Given the description of an element on the screen output the (x, y) to click on. 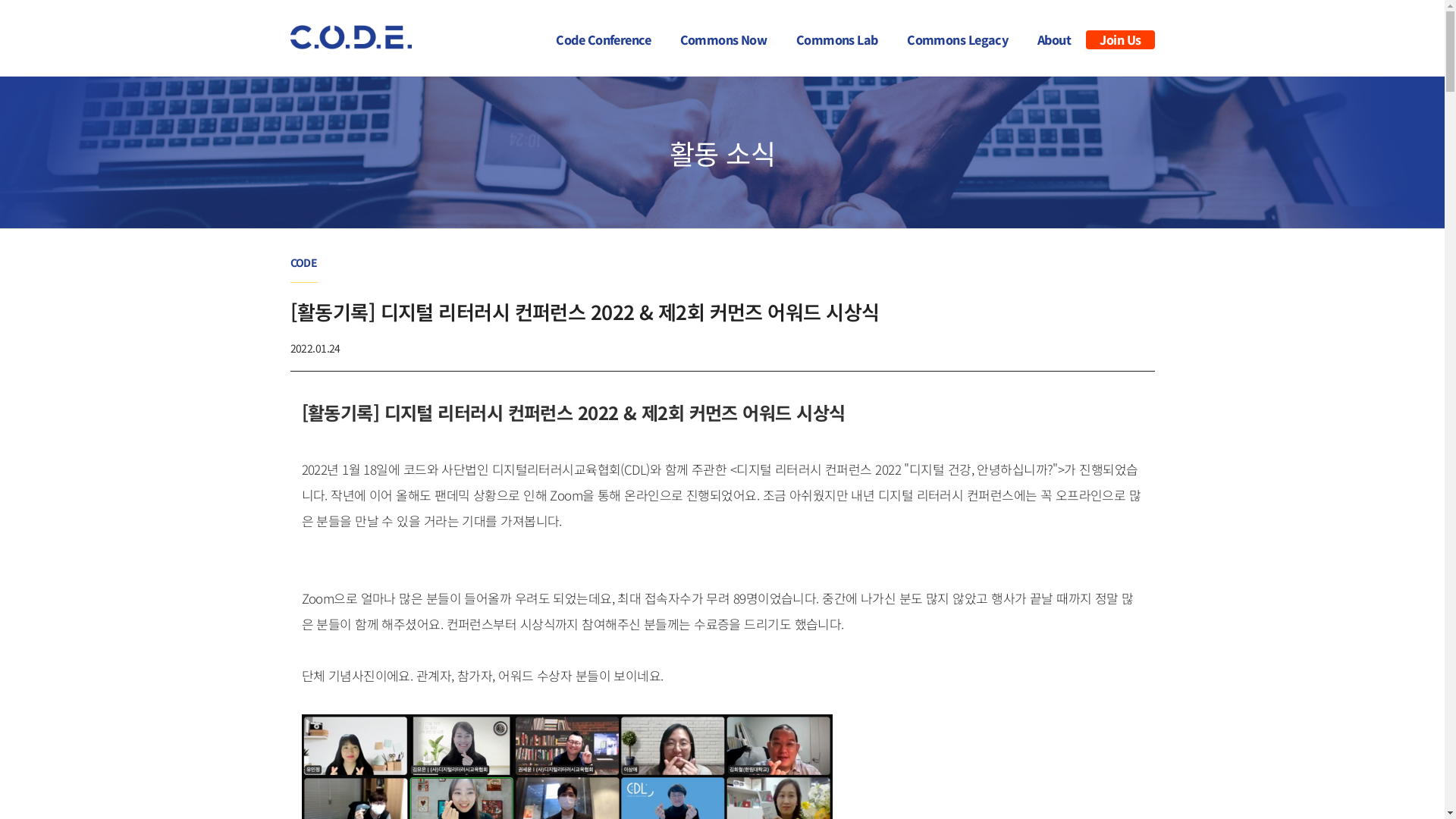
Join Us Element type: text (1119, 39)
Code Conference Element type: text (603, 37)
Commons Lab Element type: text (836, 37)
About Element type: text (1053, 37)
Commons Now Element type: text (723, 37)
Commons Legacy Element type: text (957, 37)
C.O.D.E Element type: text (350, 37)
